Given the description of an element on the screen output the (x, y) to click on. 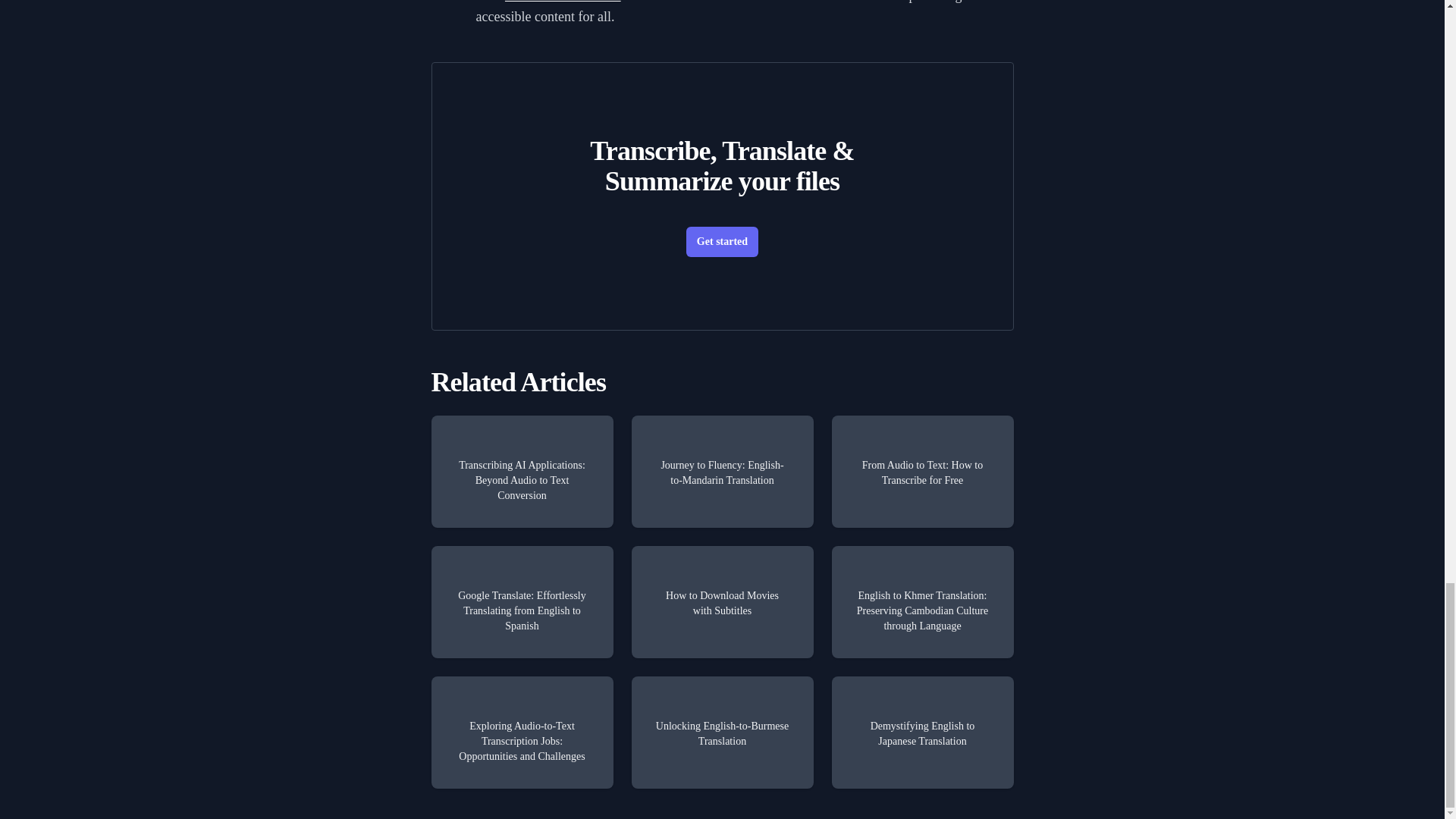
Get started (721, 241)
How to Download Movies with Subtitles (721, 602)
Journey to Fluency: English-to-Mandarin Translation (721, 471)
Demystifying English to Japanese Translation (922, 732)
Unlocking English-to-Burmese Translation (721, 732)
PlainScribe's website (563, 1)
From Audio to Text: How to Transcribe for Free (922, 471)
